Given the description of an element on the screen output the (x, y) to click on. 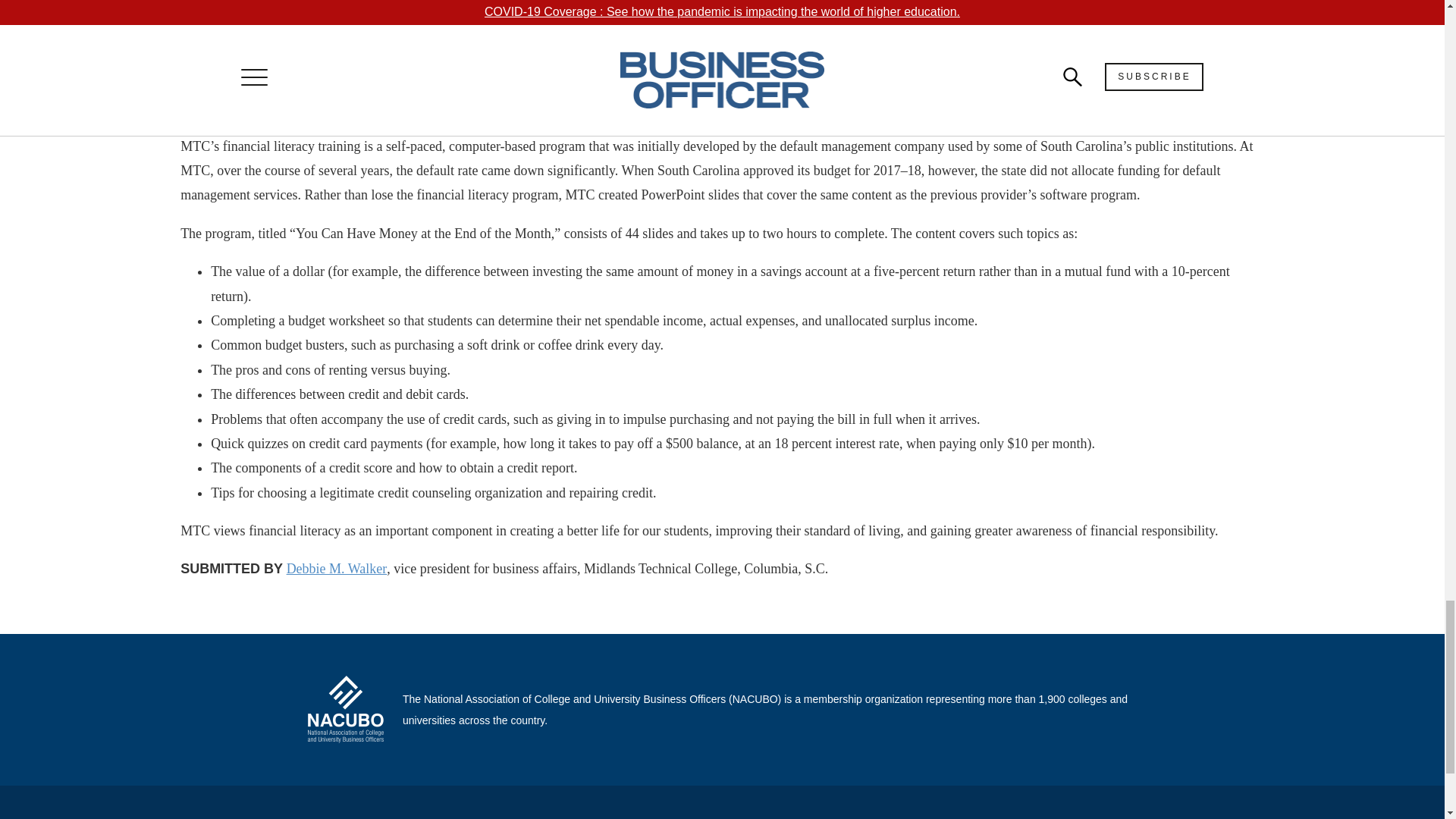
Debbie M. Walker (336, 568)
